Given the description of an element on the screen output the (x, y) to click on. 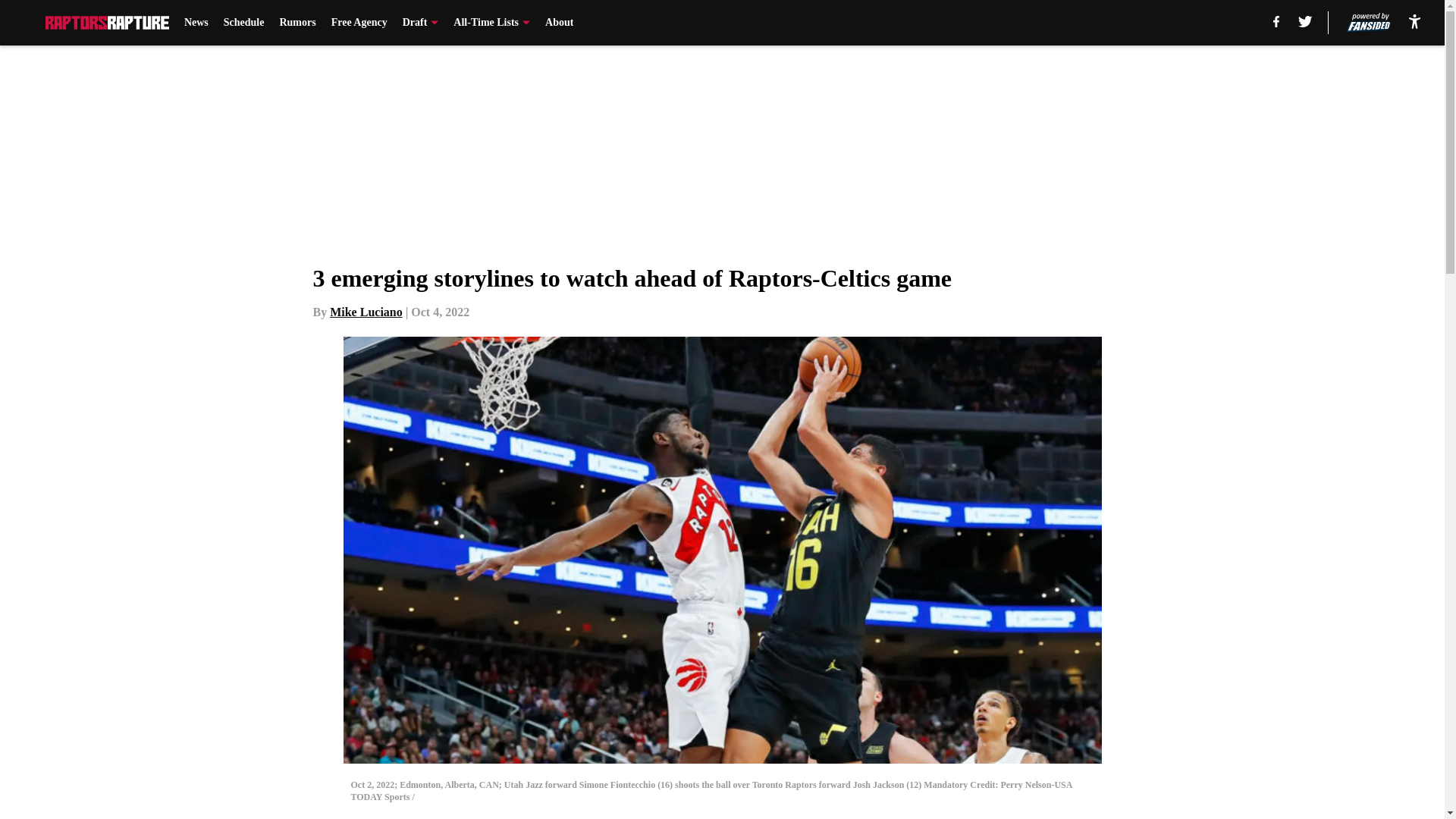
News (196, 22)
Free Agency (359, 22)
Mike Luciano (366, 311)
Schedule (244, 22)
Rumors (297, 22)
All-Time Lists (490, 22)
About (558, 22)
Draft (421, 22)
